Given the description of an element on the screen output the (x, y) to click on. 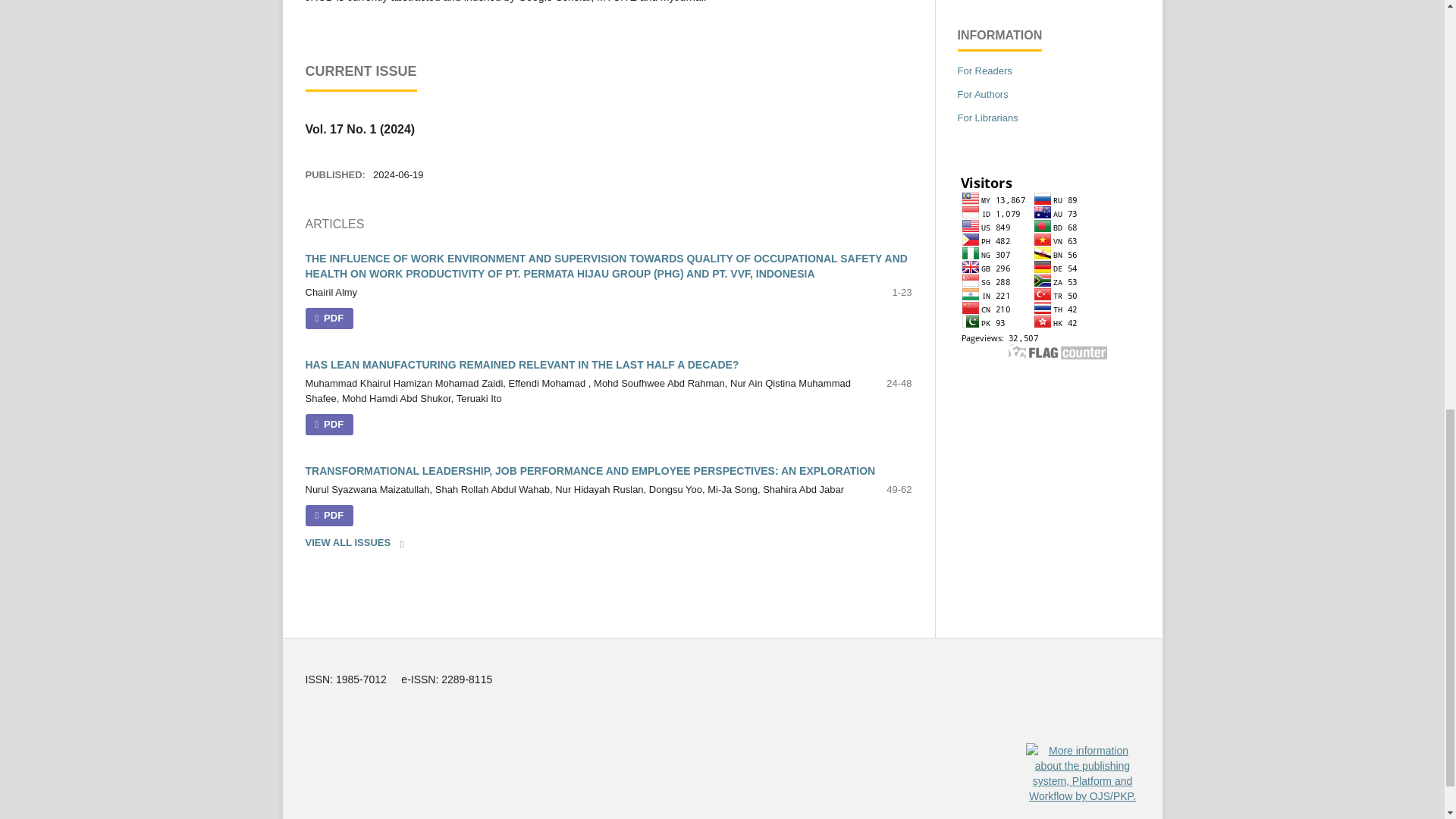
PDF (328, 515)
PDF (328, 318)
VIEW ALL ISSUES (358, 542)
PDF (328, 424)
